Given the description of an element on the screen output the (x, y) to click on. 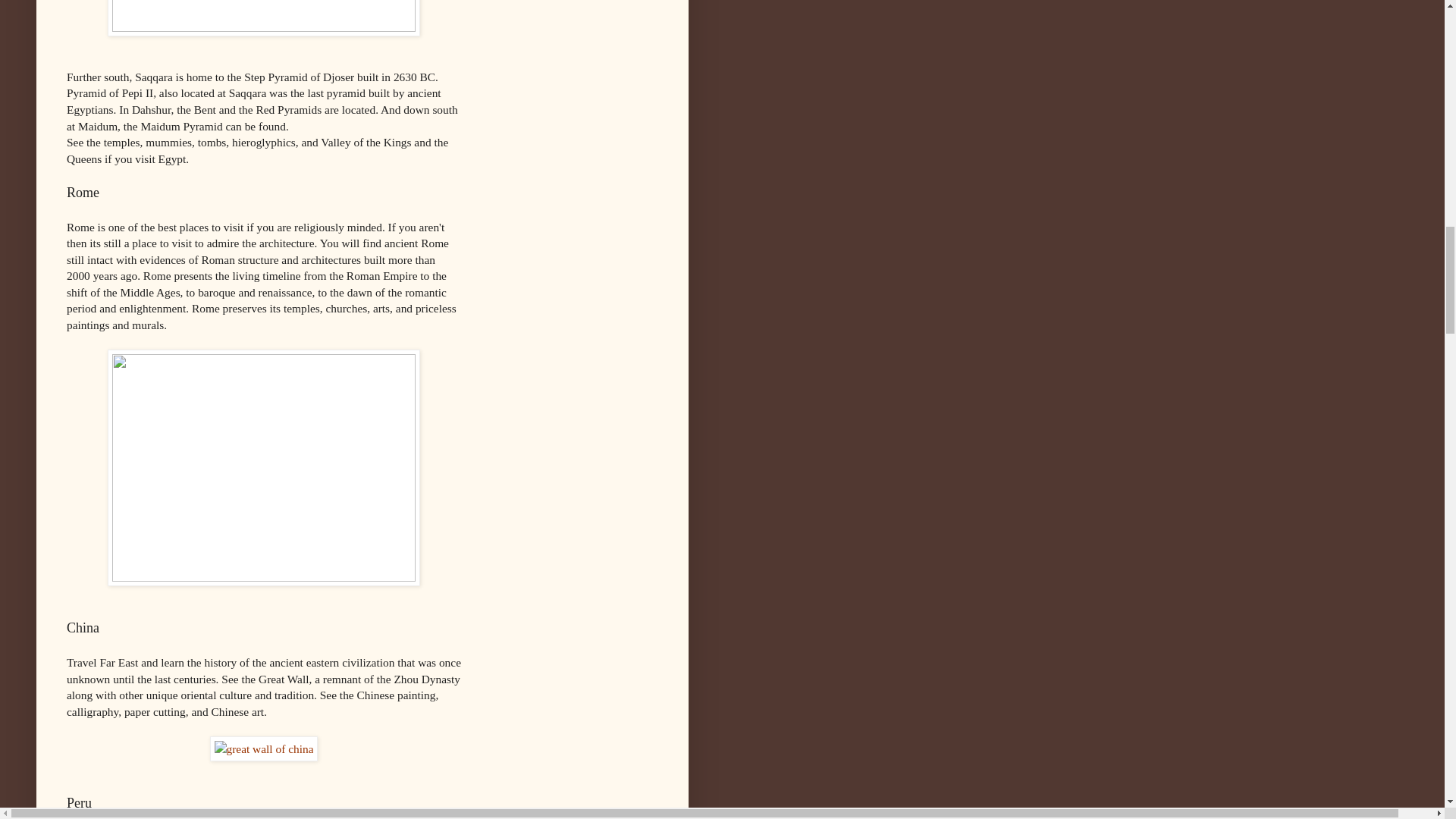
great wall of china (263, 749)
